Given the description of an element on the screen output the (x, y) to click on. 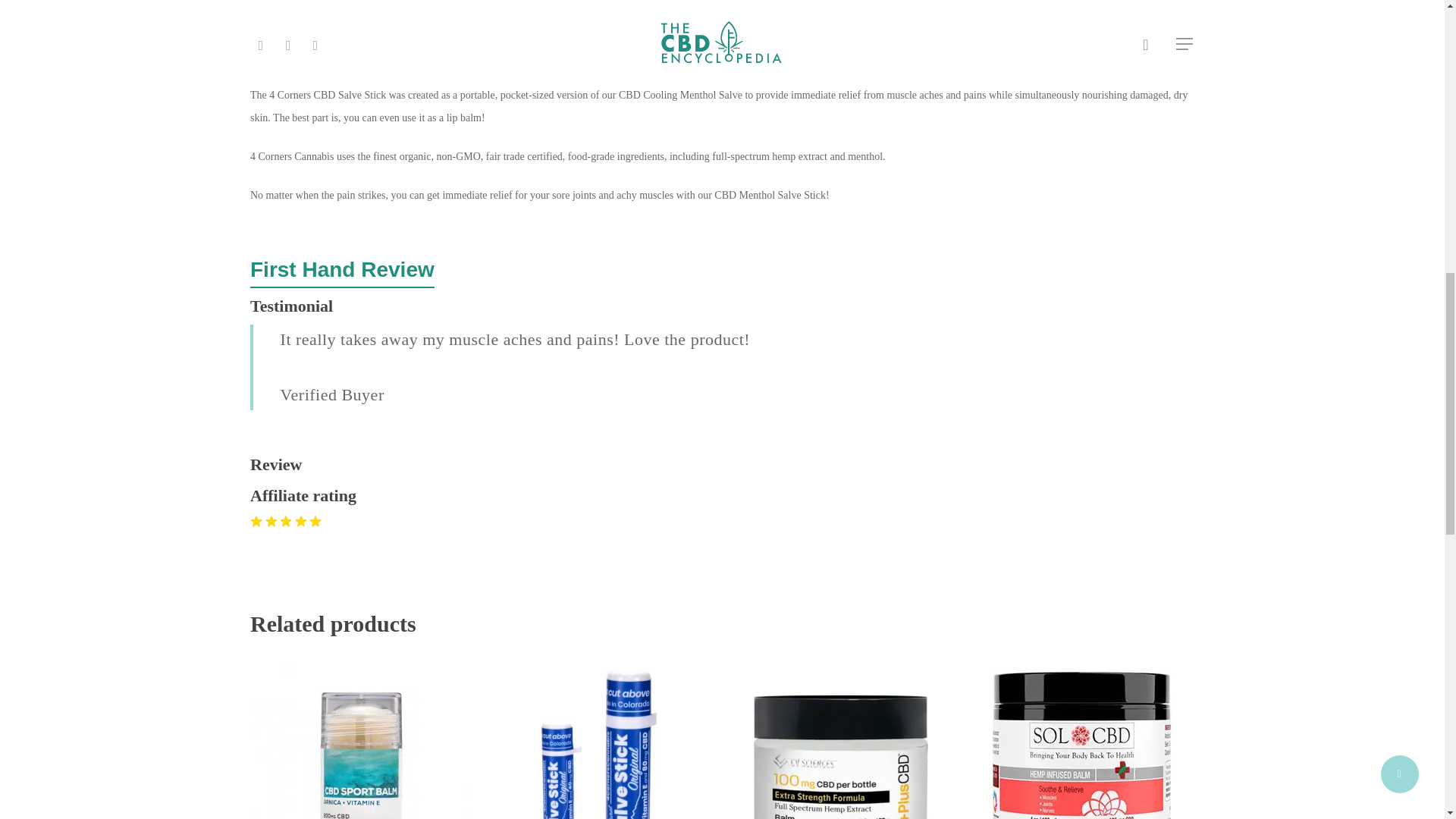
K2C25 (687, 6)
4 Corners Cannabis CBD Cooling Menthol Salve Stick (687, 6)
